Given the description of an element on the screen output the (x, y) to click on. 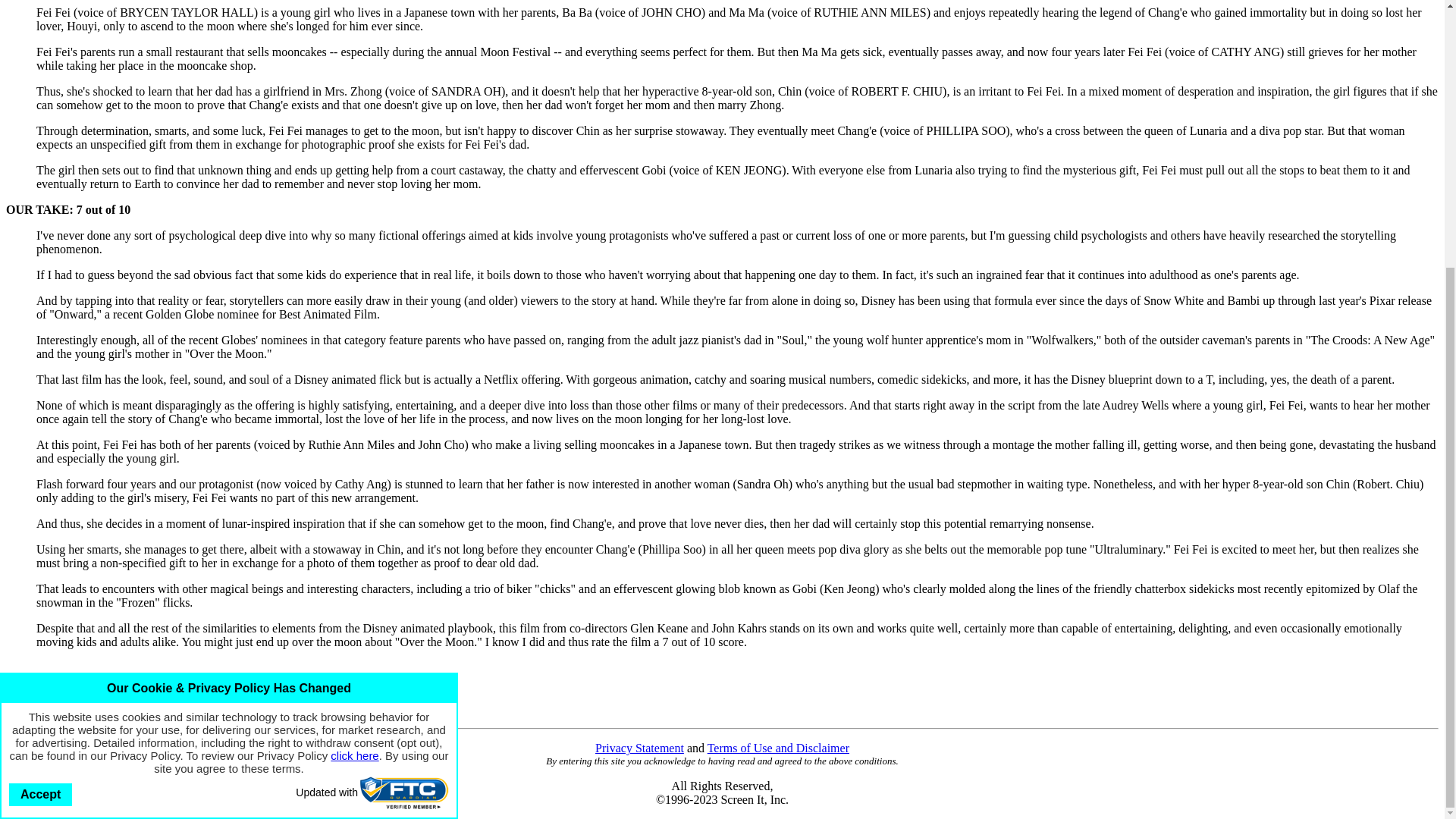
Terms of Use and Disclaimer (777, 748)
click here (354, 367)
Accept (39, 405)
Privacy Statement (639, 748)
